Given the description of an element on the screen output the (x, y) to click on. 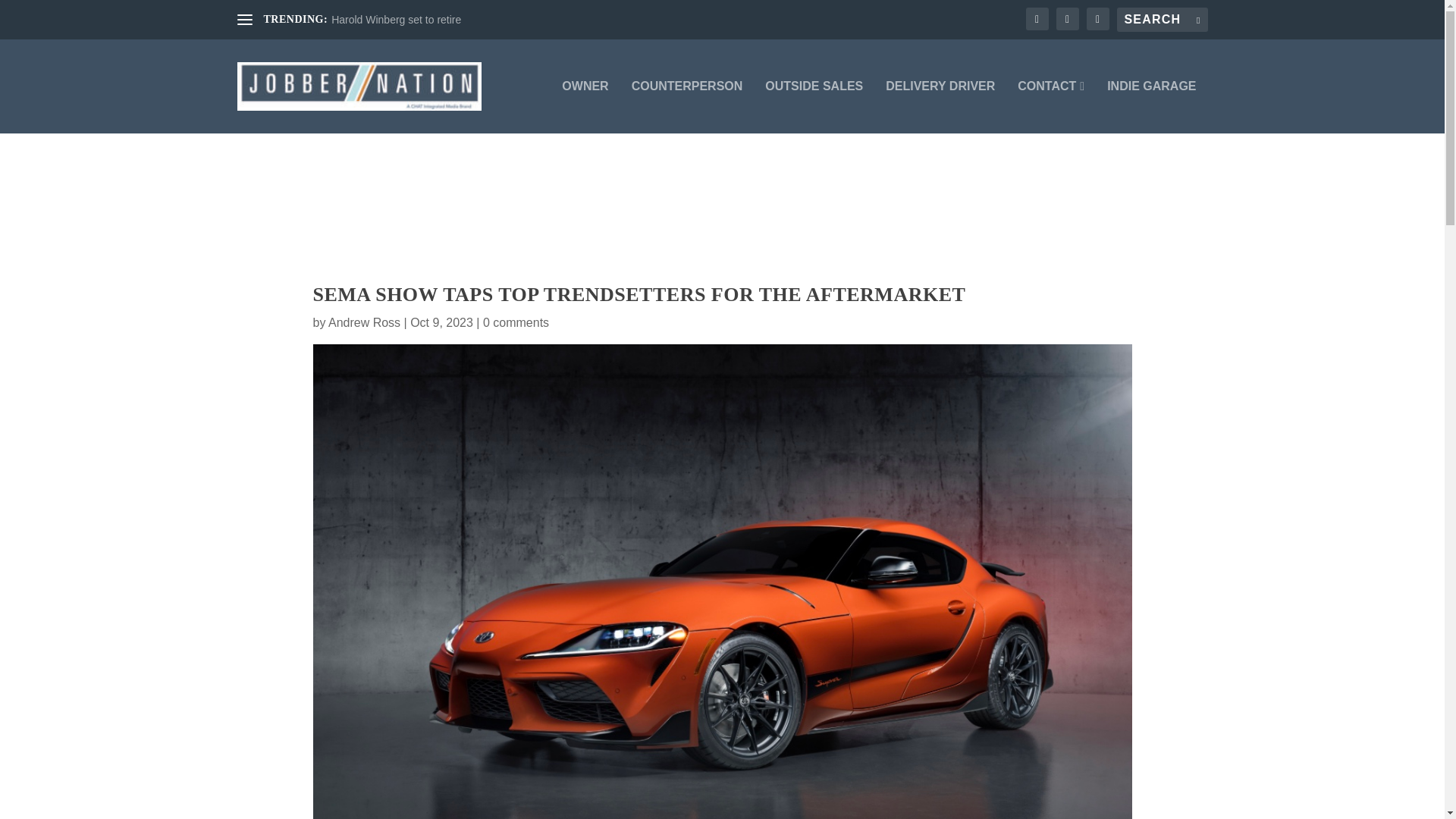
DELIVERY DRIVER (939, 106)
0 comments (515, 322)
Search for: (1161, 19)
Posts by Andrew Ross (364, 322)
3rd party ad content (721, 207)
CONTACT (1050, 106)
OWNER (585, 106)
Harold Winberg set to retire (396, 19)
OUTSIDE SALES (814, 106)
Andrew Ross (364, 322)
INDIE GARAGE (1150, 106)
COUNTERPERSON (686, 106)
